Given the description of an element on the screen output the (x, y) to click on. 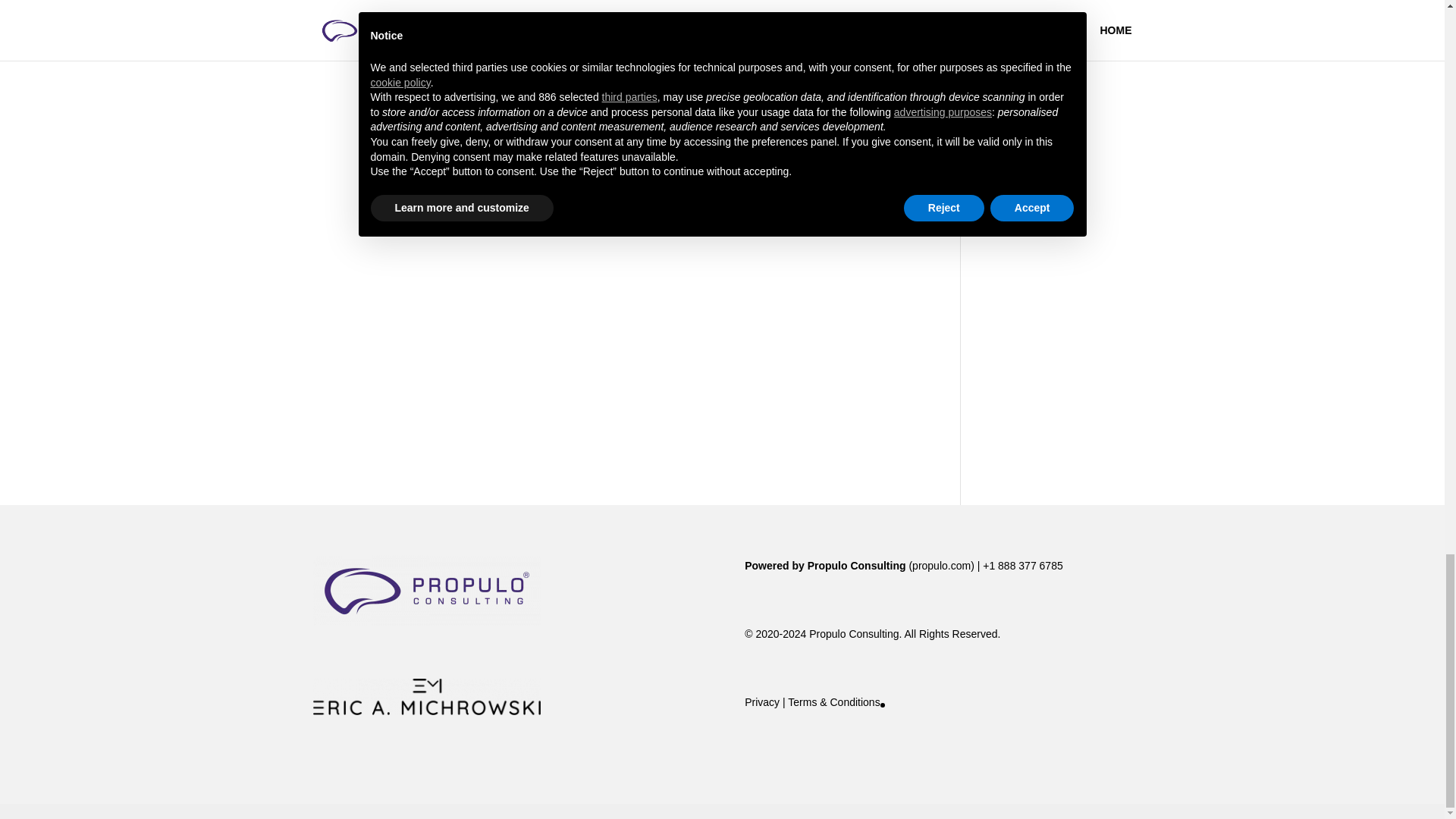
Follow on Youtube (635, 95)
propulo.com (941, 565)
Follow on LinkedIn (605, 95)
Privacy (761, 702)
